Given the description of an element on the screen output the (x, y) to click on. 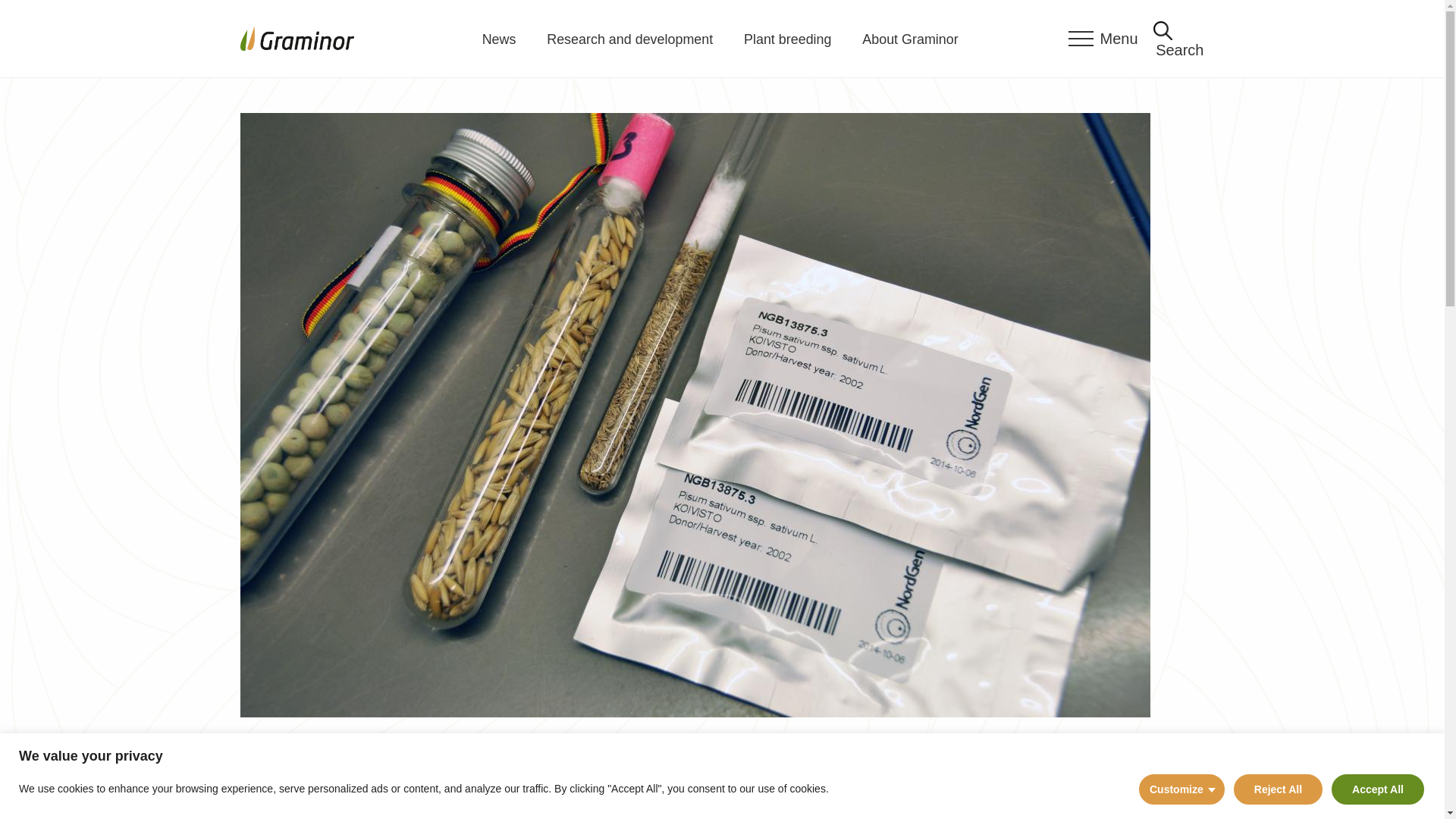
About Graminor (909, 38)
Customize (1181, 788)
Plant breeding (787, 38)
Go (1193, 29)
Research and development (630, 38)
Reject All (1277, 788)
Accept All (1377, 788)
News (498, 38)
